Given the description of an element on the screen output the (x, y) to click on. 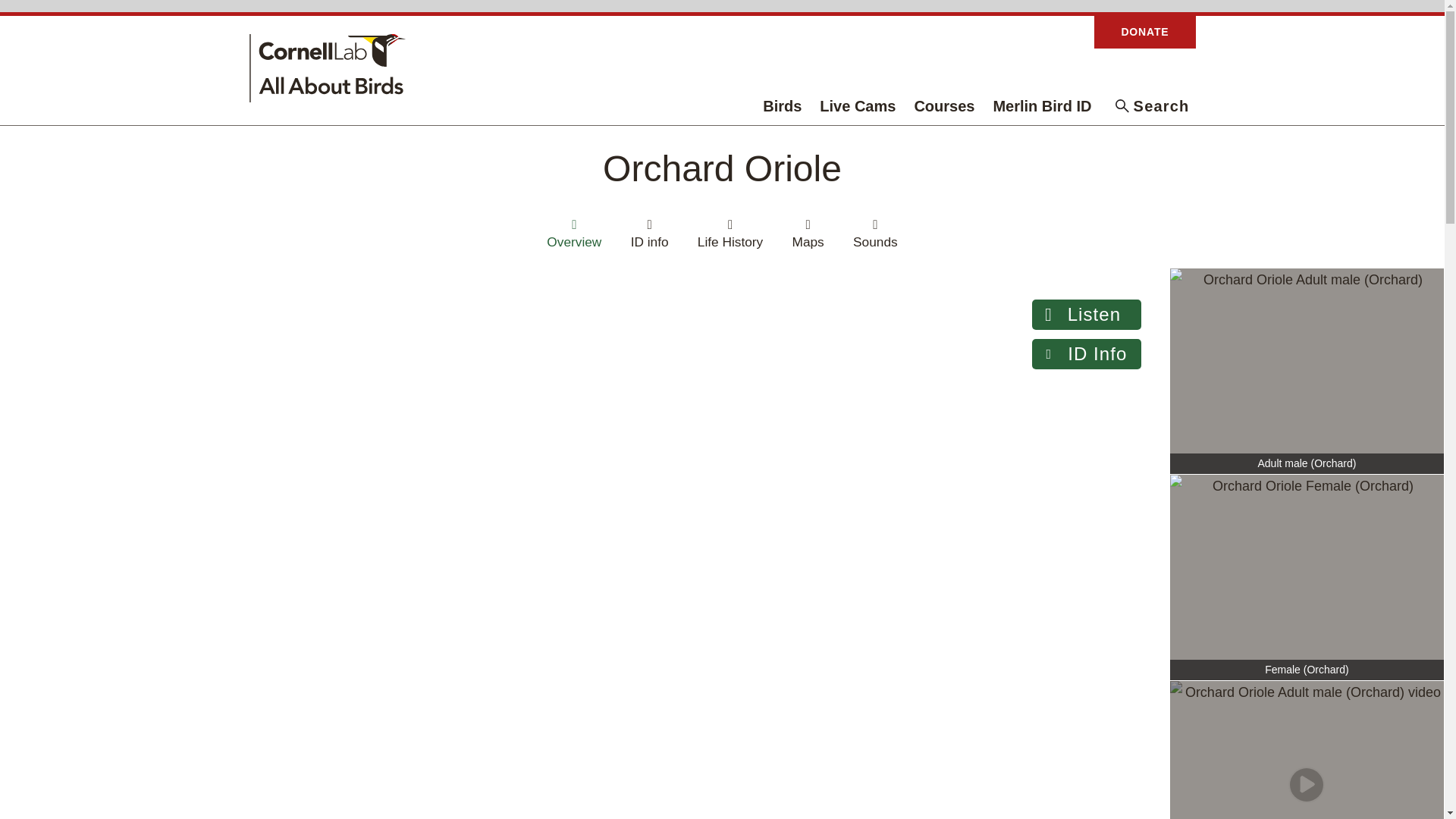
Merlin Bird ID (1043, 106)
DONATE (1144, 31)
Sounds (875, 233)
ID Info (1086, 354)
Birds (781, 106)
Live Cams (857, 106)
Overview (573, 233)
Search (1152, 106)
Maps (807, 233)
Listen (1086, 314)
